Given the description of an element on the screen output the (x, y) to click on. 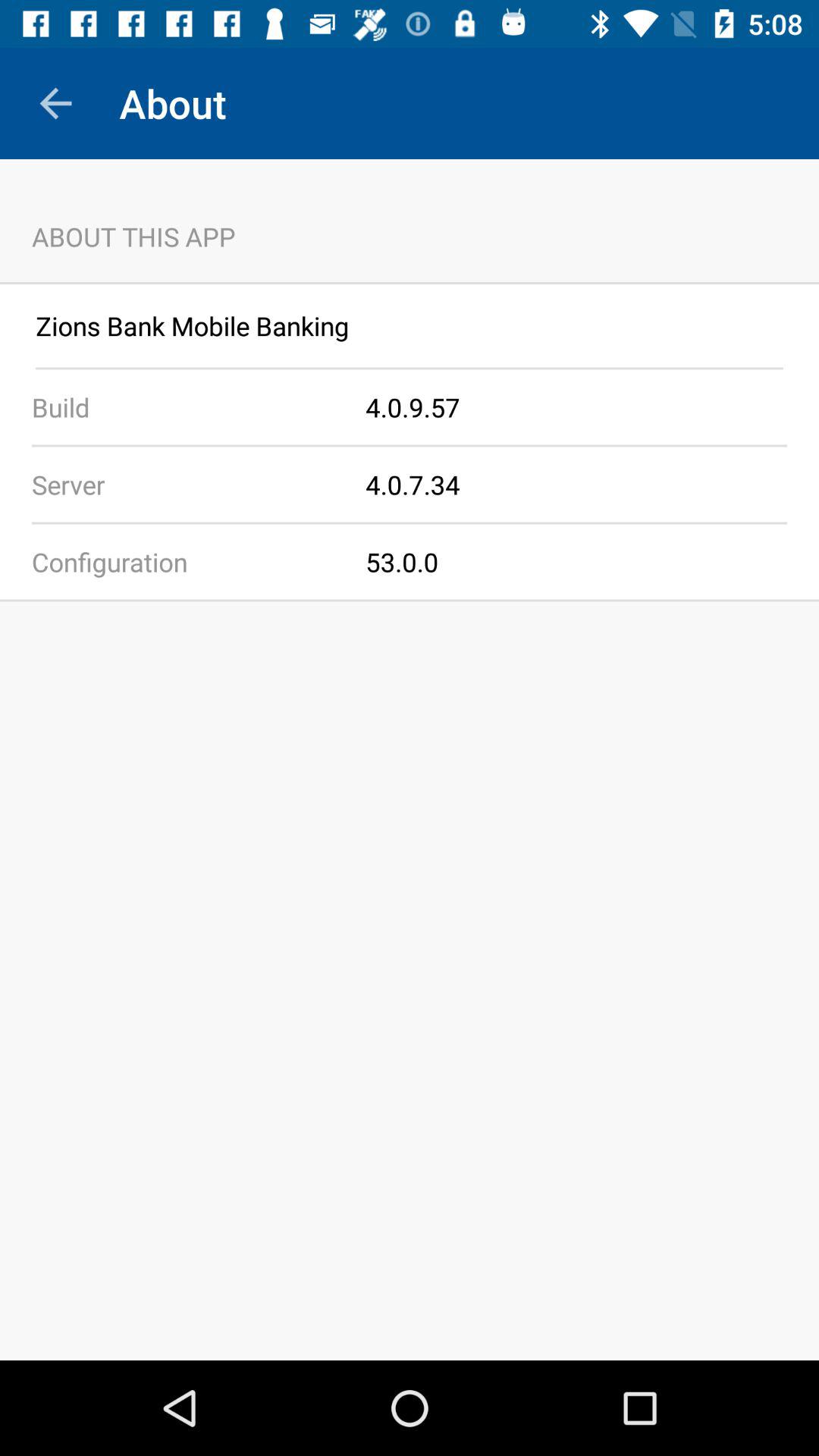
swipe until zions bank mobile app (409, 325)
